Given the description of an element on the screen output the (x, y) to click on. 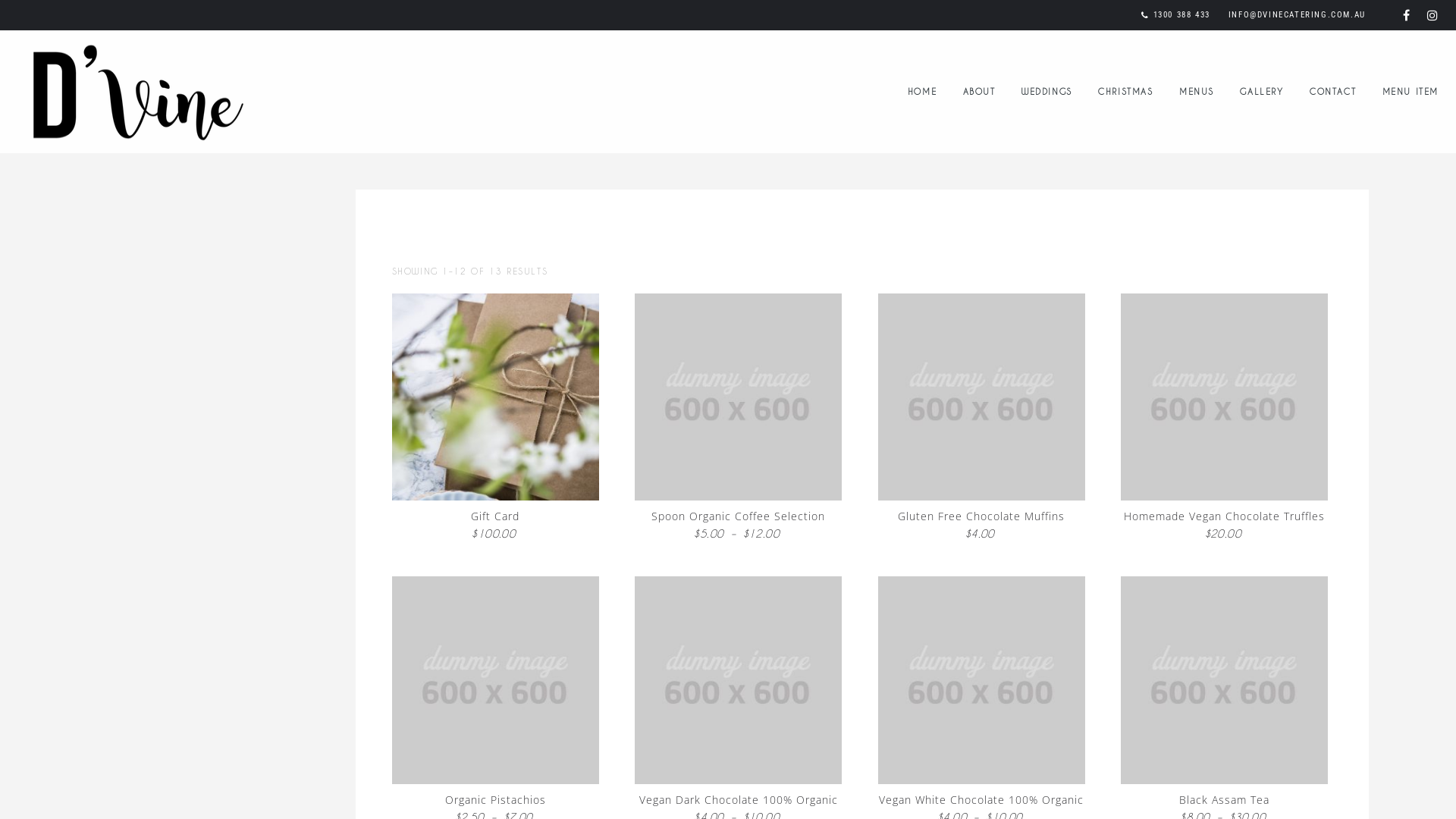
MENU ITEM Element type: text (1410, 90)
1300 388 433 Element type: text (1181, 14)
ABOUT Element type: text (979, 90)
Gift Card
$100.00 Element type: text (494, 418)
HOME Element type: text (922, 90)
Gluten Free Chocolate Muffins
$4.00 Element type: text (981, 418)
INFO@DVINECATERING.COM.AU Element type: text (1296, 14)
GALLERY Element type: text (1261, 90)
CHRISTMAS Element type: text (1125, 90)
WEDDINGS Element type: text (1046, 90)
MENUS Element type: text (1196, 90)
Homemade Vegan Chocolate Truffles
$20.00 Element type: text (1223, 418)
CONTACT Element type: text (1332, 90)
